Given the description of an element on the screen output the (x, y) to click on. 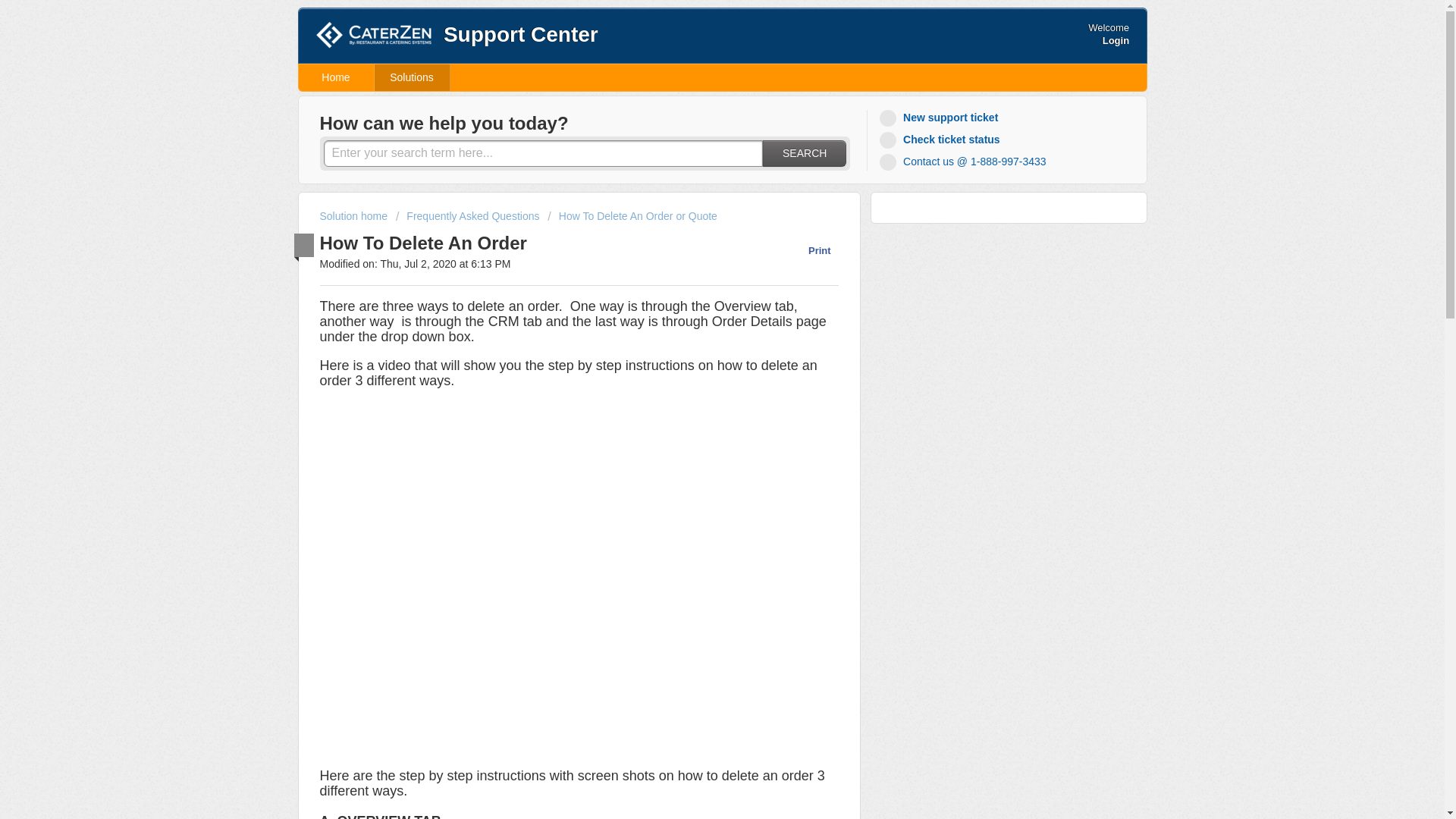
Solution home (355, 215)
New support ticket (940, 117)
Check ticket status (941, 139)
Login (1115, 40)
Print (812, 250)
New support ticket (940, 117)
Frequently Asked Questions (468, 215)
Print this Article (812, 250)
Home (336, 77)
Check ticket status (941, 139)
